Given the description of an element on the screen output the (x, y) to click on. 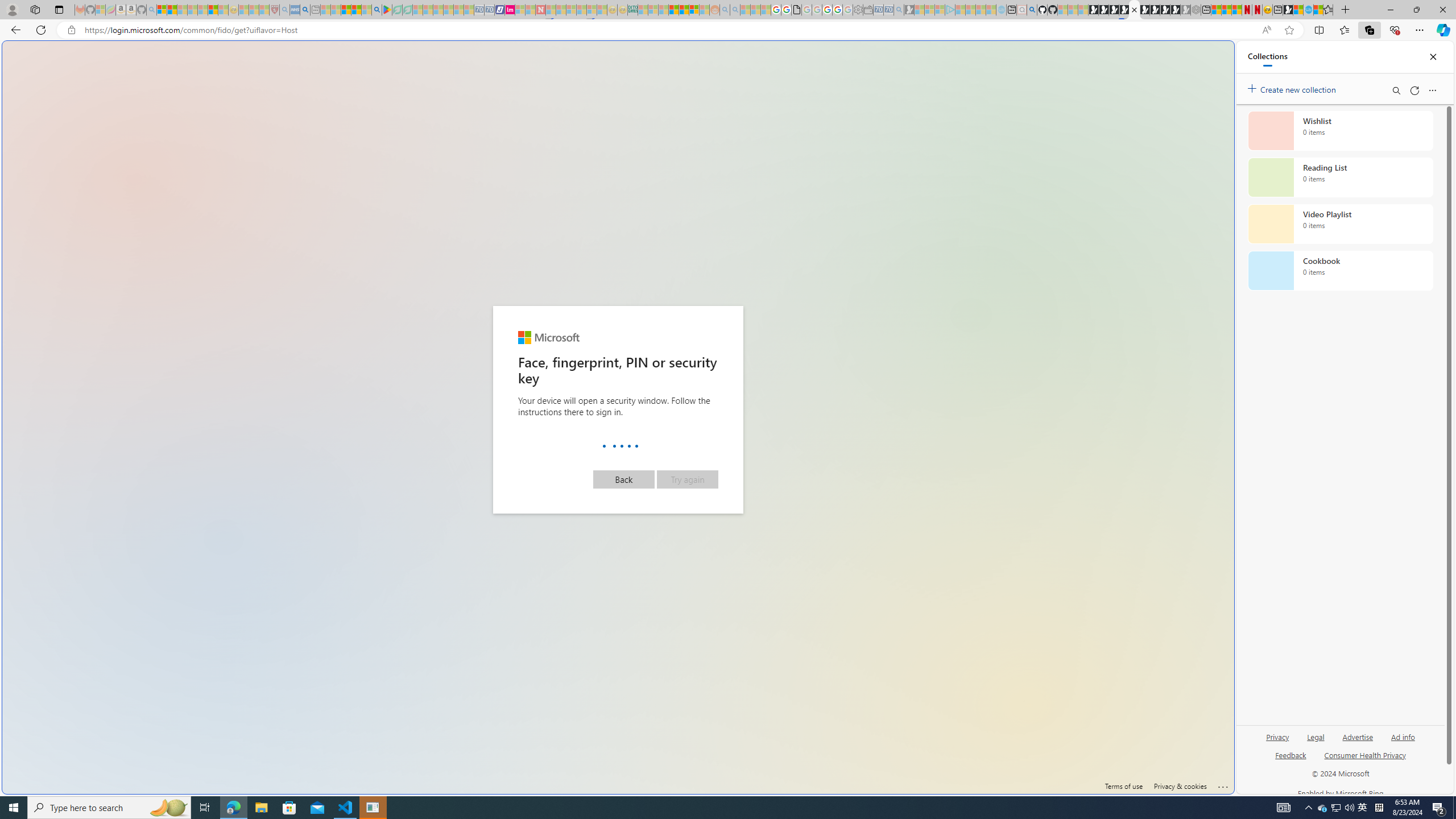
Sign in to your account (1134, 9)
github - Search (1032, 9)
The Weather Channel - MSN - Sleeping (181, 9)
14 Common Myths Debunked By Scientific Facts - Sleeping (560, 9)
Settings - Sleeping (857, 9)
Kinda Frugal - MSN (684, 9)
Utah sues federal government - Search - Sleeping (735, 9)
